Given the description of an element on the screen output the (x, y) to click on. 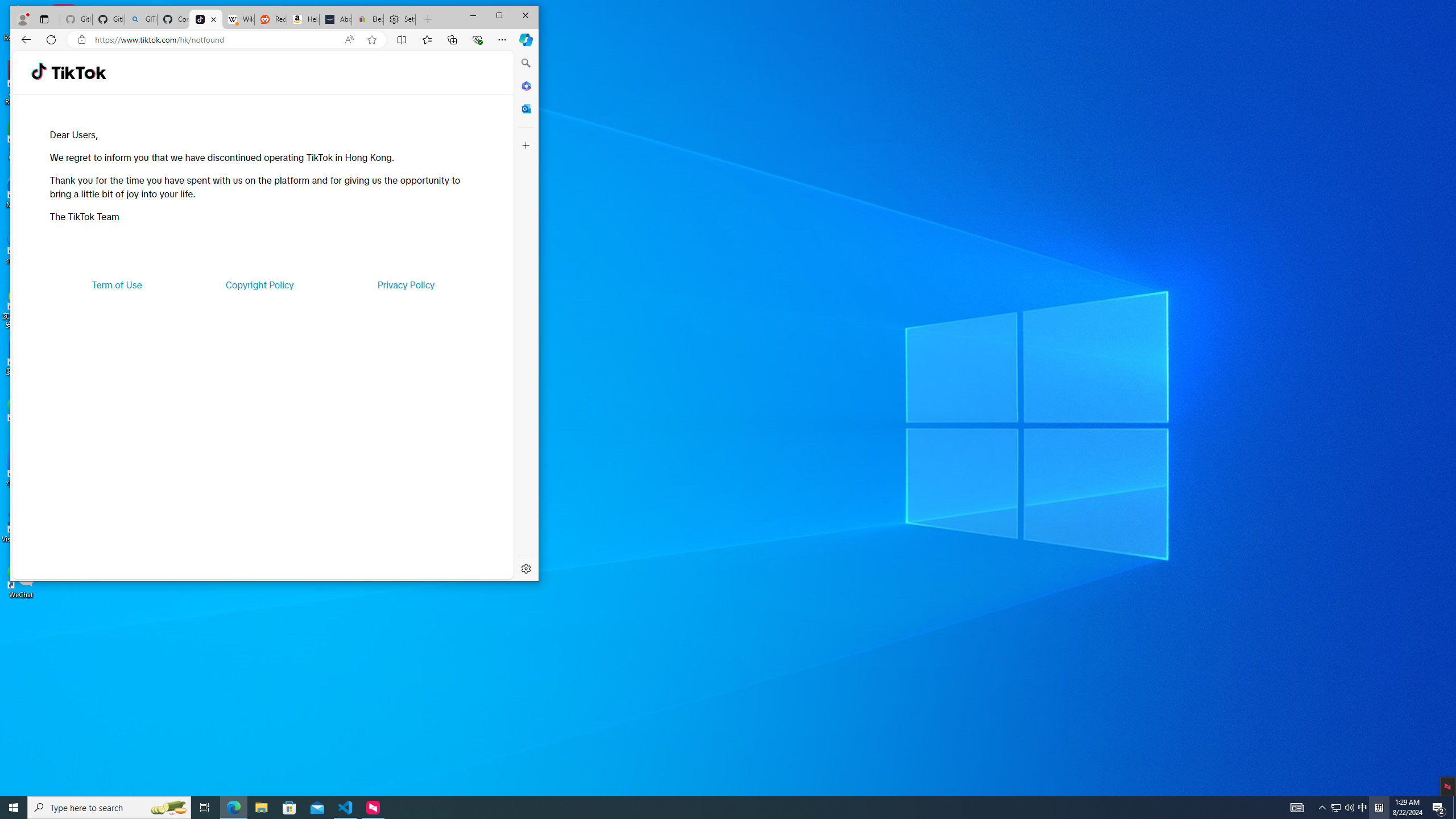
Wikipedia, the free encyclopedia (237, 19)
Copyright Policy (259, 284)
